Given the description of an element on the screen output the (x, y) to click on. 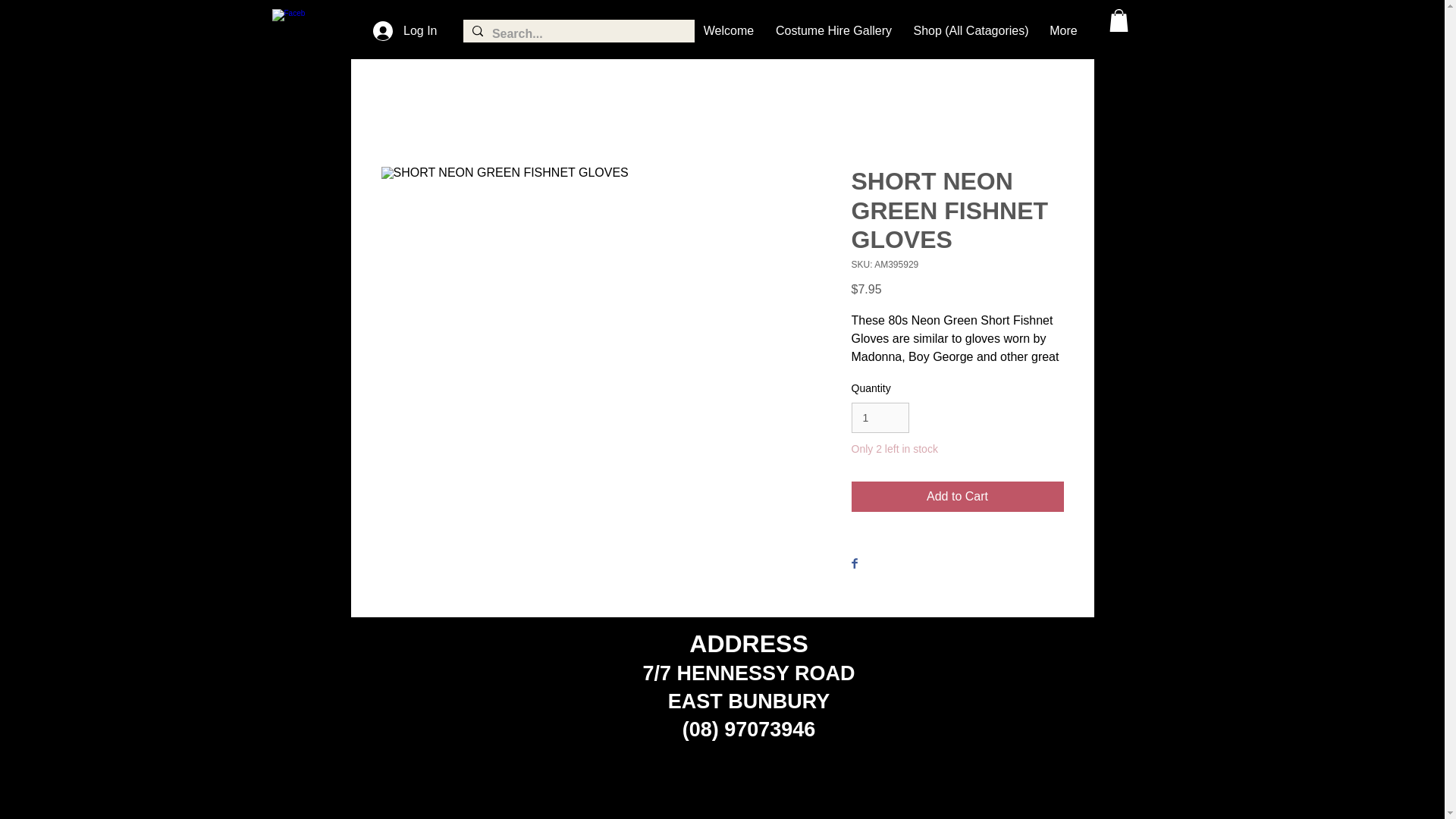
Welcome (728, 30)
Costume Hire Gallery (833, 30)
Log In (404, 30)
1 (879, 418)
